Given the description of an element on the screen output the (x, y) to click on. 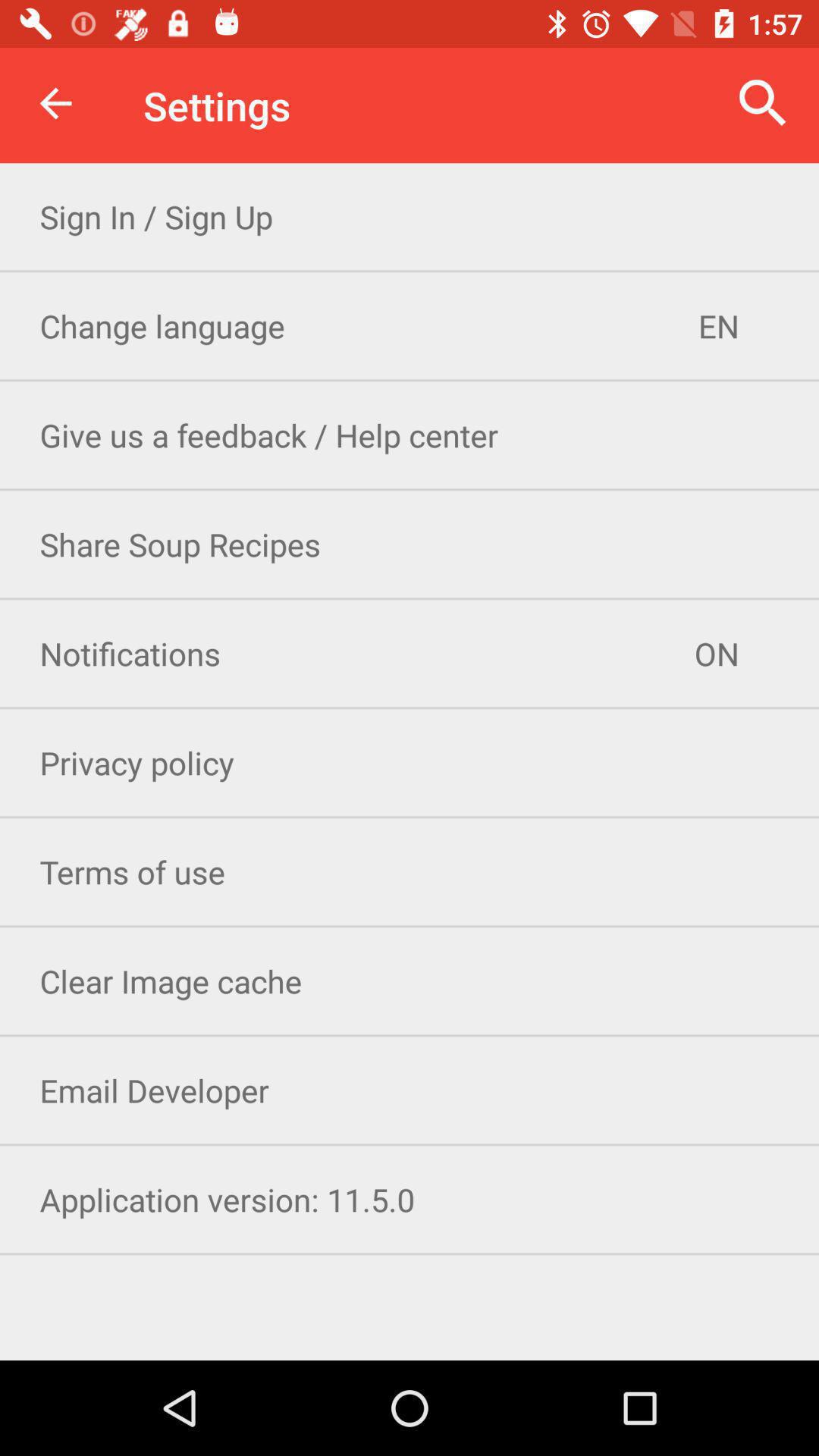
press the item to the left of settings (55, 103)
